Given the description of an element on the screen output the (x, y) to click on. 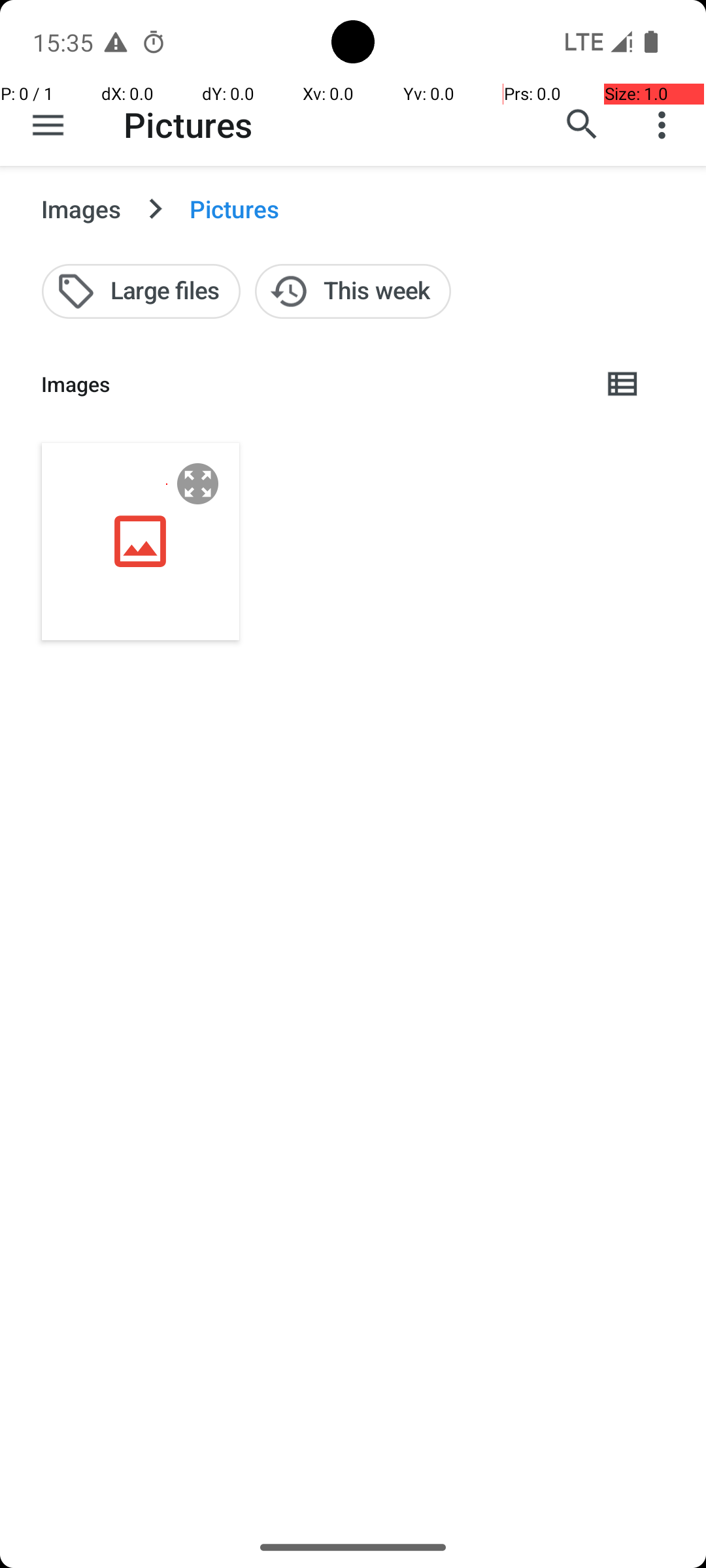
Pictures Element type: android.widget.TextView (187, 124)
IMG_20231015_153414.jpg, 145 kB, 15:34 Element type: android.widget.LinearLayout (140, 541)
Preview the file IMG_20231015_153414.jpg Element type: android.widget.FrameLayout (197, 483)
